Given the description of an element on the screen output the (x, y) to click on. 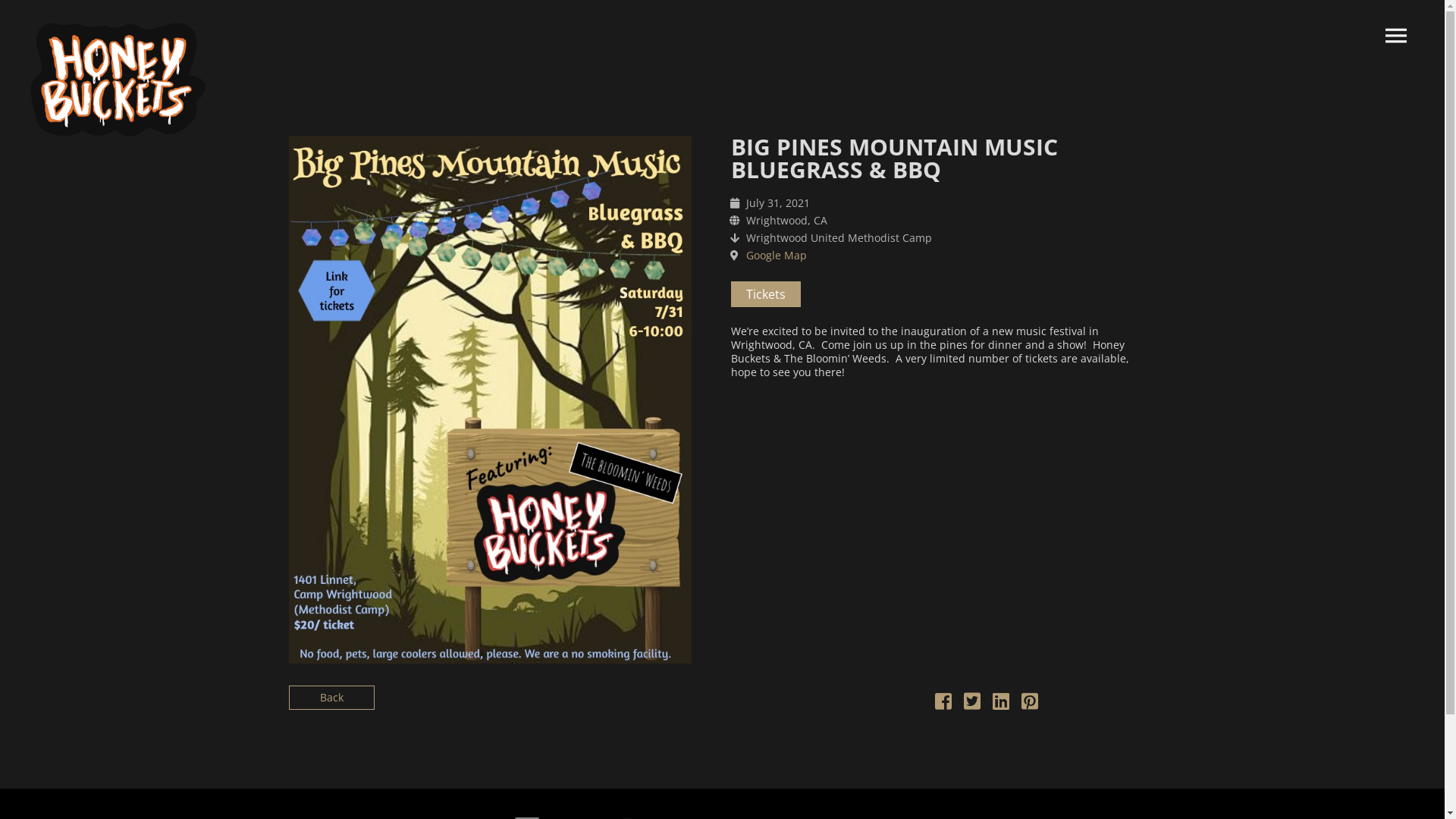
Share on Twitter Element type: hover (971, 703)
Share on Pinterest Element type: hover (1028, 703)
Share on LinkedIn Element type: hover (999, 703)
Back Element type: text (330, 697)
Honey Buckets Bluegrass Band Element type: hover (117, 79)
Share on Facebook Element type: hover (942, 703)
Google Map Element type: text (776, 254)
Tickets Element type: text (765, 294)
